Given the description of an element on the screen output the (x, y) to click on. 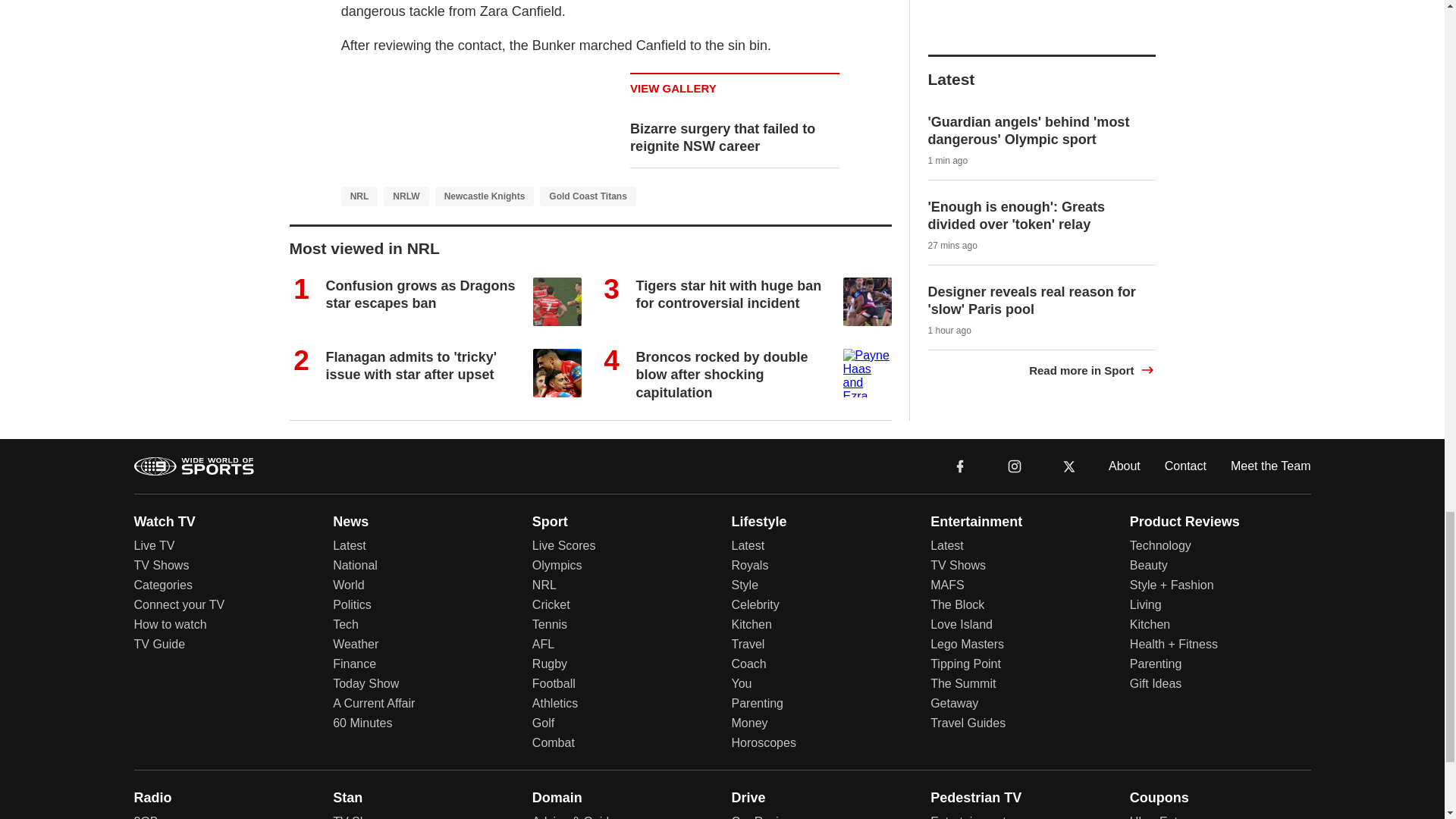
Star's wife hit with 10-year ban over alleged brawl (411, 324)
NRL (359, 227)
facebook (959, 496)
Newcastle Knights (484, 227)
Bizarre surgery that failed to reignite NSW career (722, 168)
facebook (960, 497)
NRLW (406, 227)
instagram (1013, 496)
x (1069, 497)
x (1069, 496)
